Given the description of an element on the screen output the (x, y) to click on. 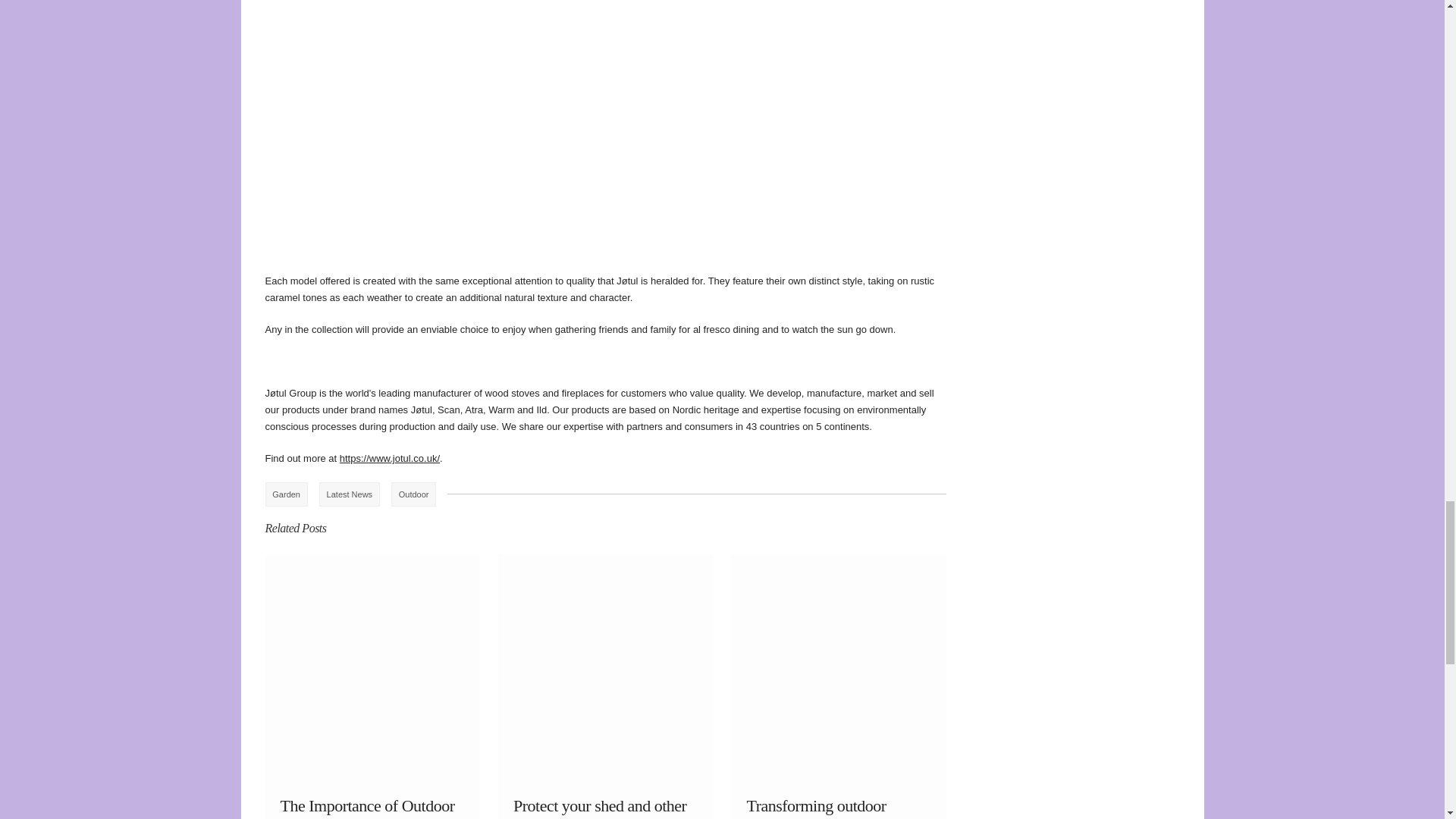
The Importance of Outdoor Living Spaces (367, 807)
Transforming outdoor spaces for Autumn and Winter 2022 (818, 807)
Transforming outdoor spaces for Autumn and Winter 2022 (818, 807)
Garden (285, 494)
Outdoor (413, 494)
The Importance of Outdoor Living Spaces (367, 807)
Latest News (349, 494)
